Given the description of an element on the screen output the (x, y) to click on. 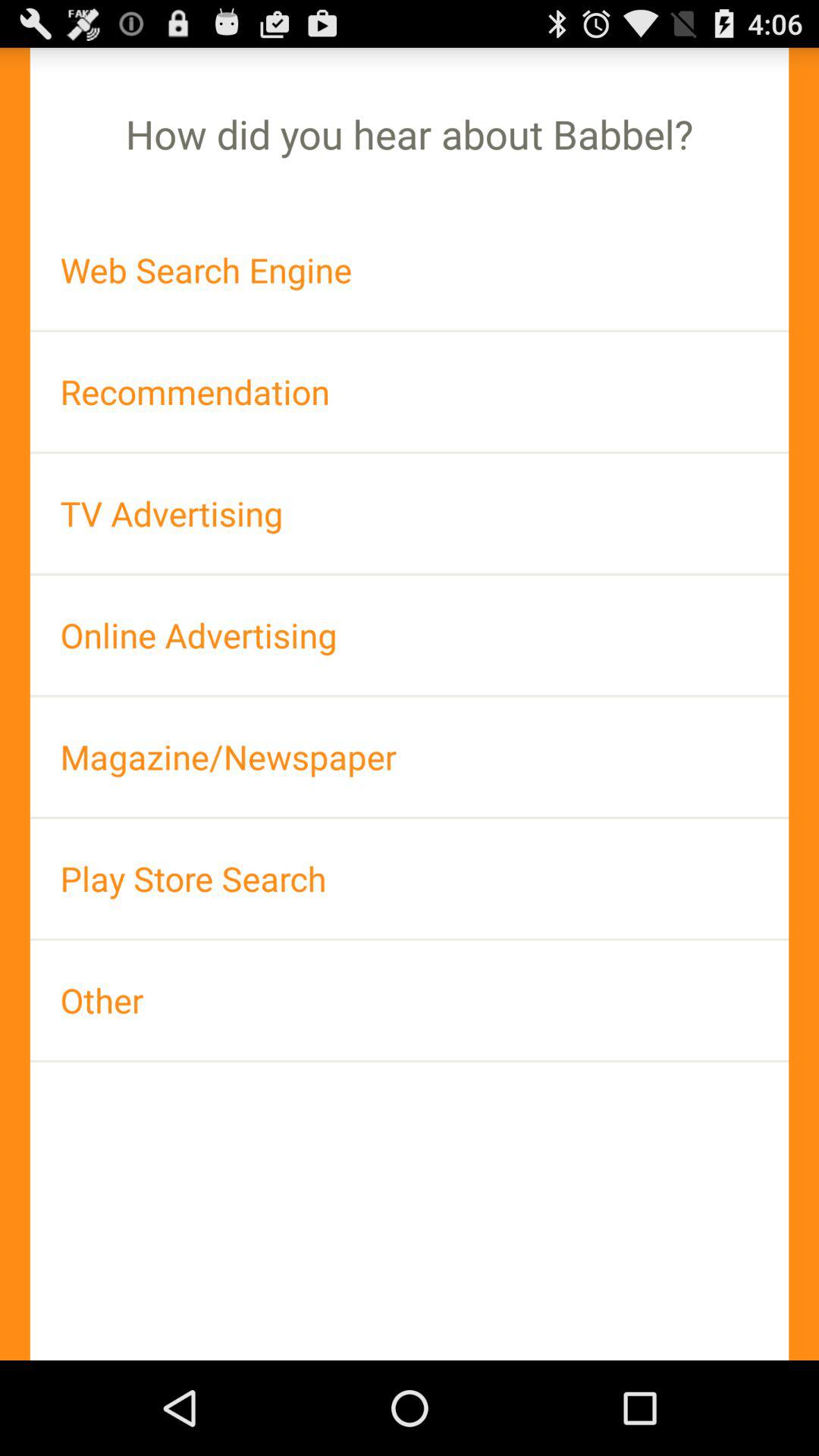
click the play store search app (409, 878)
